Given the description of an element on the screen output the (x, y) to click on. 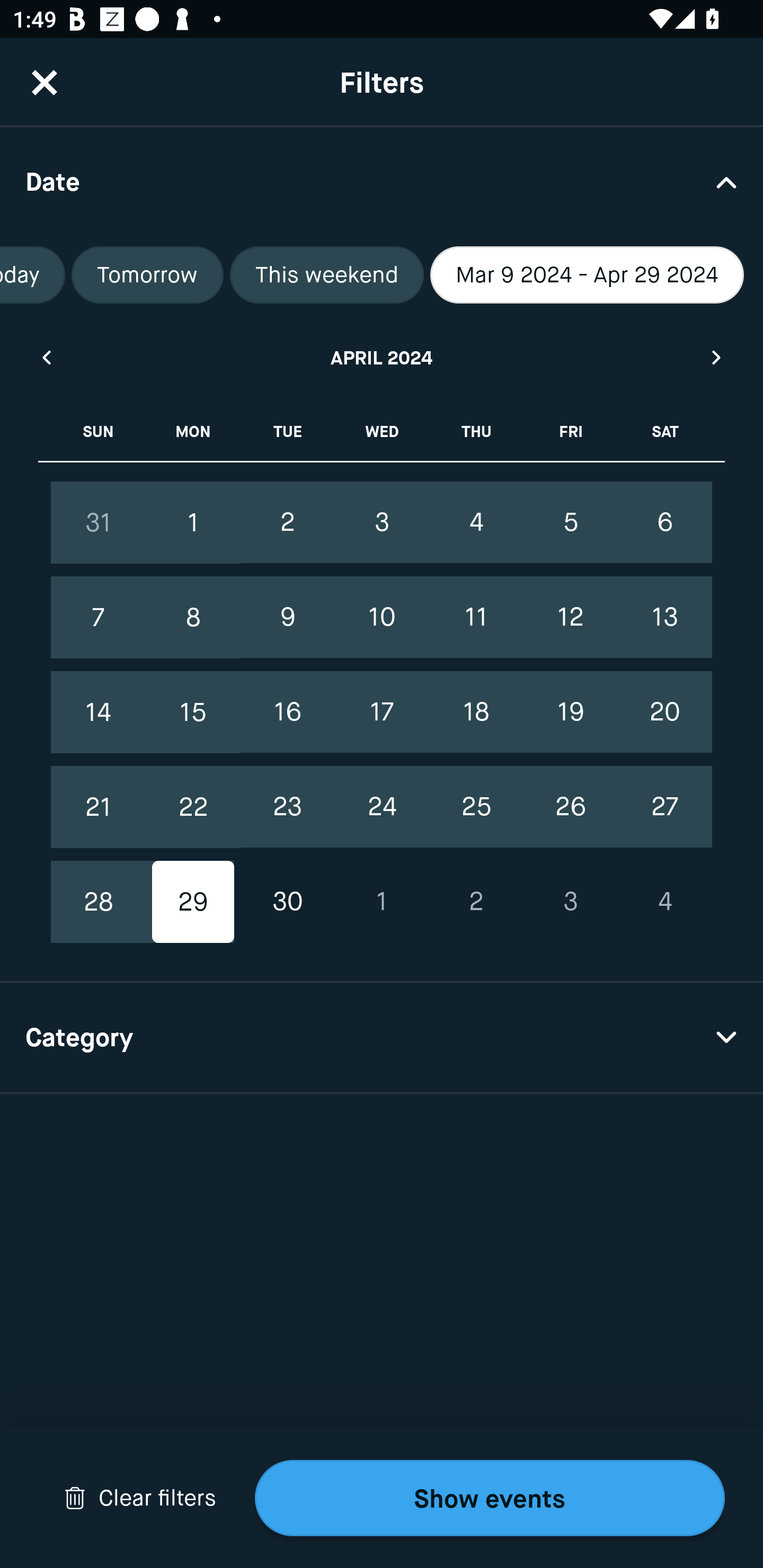
CloseButton (44, 82)
Date Drop Down Arrow (381, 181)
Tomorrow (147, 274)
This weekend (326, 274)
Mar 9 2024 - Apr 29 2024 (586, 274)
Previous (45, 357)
Next (717, 357)
31 (98, 522)
1 (192, 522)
2 (287, 522)
3 (381, 522)
4 (475, 522)
5 (570, 522)
6 (664, 522)
7 (98, 617)
8 (192, 617)
9 (287, 617)
10 (381, 617)
11 (475, 617)
12 (570, 617)
13 (664, 617)
14 (98, 711)
15 (192, 711)
16 (287, 711)
17 (381, 711)
18 (475, 711)
19 (570, 711)
20 (664, 711)
21 (98, 806)
22 (192, 806)
23 (287, 806)
24 (381, 806)
25 (475, 806)
26 (570, 806)
27 (664, 806)
28 (98, 901)
29 (192, 901)
30 (287, 901)
1 (381, 901)
2 (475, 901)
3 (570, 901)
4 (664, 901)
Category Drop Down Arrow (381, 1038)
Drop Down Arrow Clear filters (139, 1497)
Show events (489, 1497)
